Given the description of an element on the screen output the (x, y) to click on. 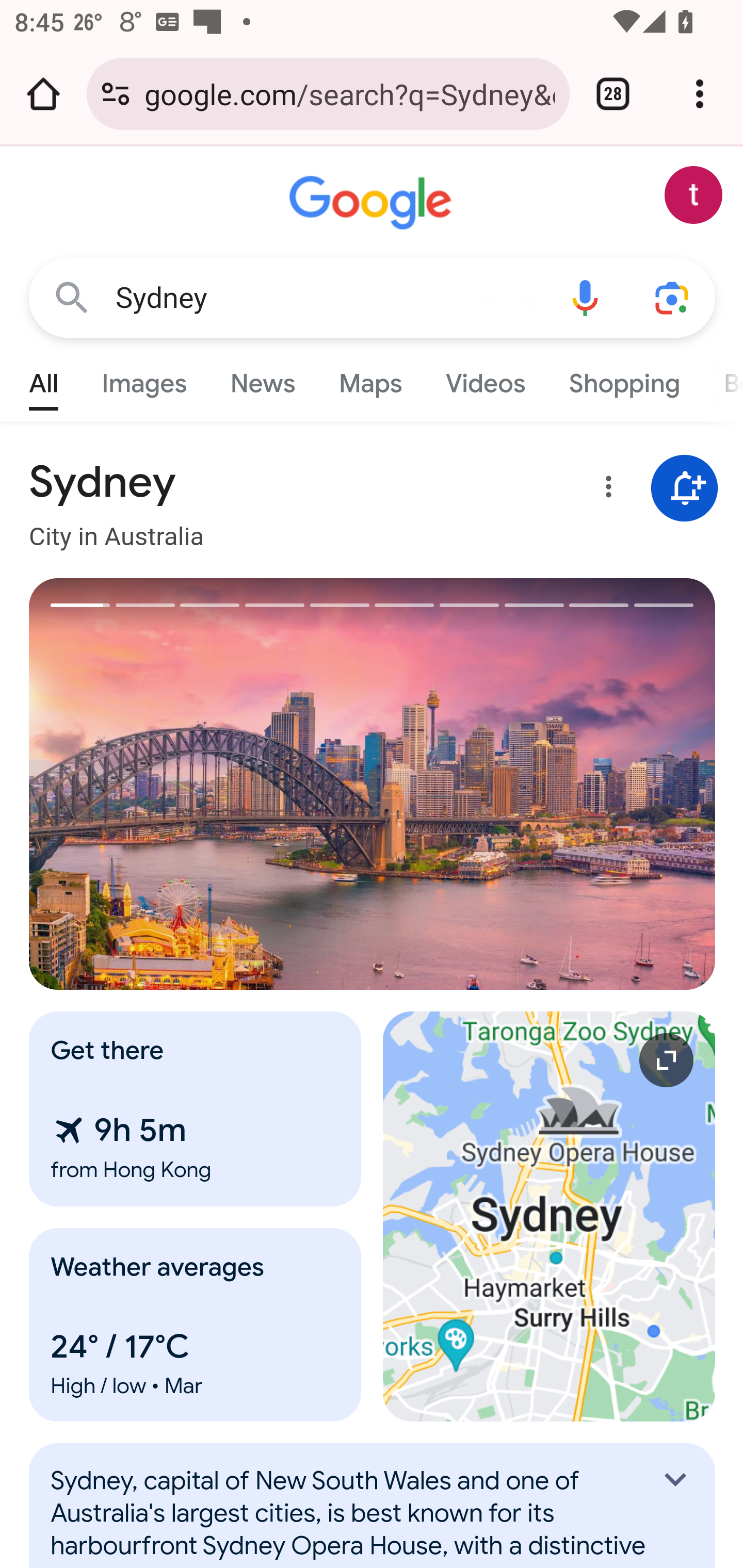
Open the home page (43, 93)
Connection is secure (115, 93)
Switch or close tabs (612, 93)
Customize and control Google Chrome (699, 93)
Google (372, 203)
Google Search (71, 296)
Search using your camera or photos (672, 296)
Sydney (328, 297)
Images (144, 378)
News (262, 378)
Maps (369, 378)
Videos (485, 378)
Shopping (623, 378)
Get notifications about Sydney (684, 489)
More options (605, 489)
Previous image (200, 783)
Next image (544, 783)
Expand map (549, 1216)
Weather averages 24° / 17°C High / low • Mar (195, 1324)
